Given the description of an element on the screen output the (x, y) to click on. 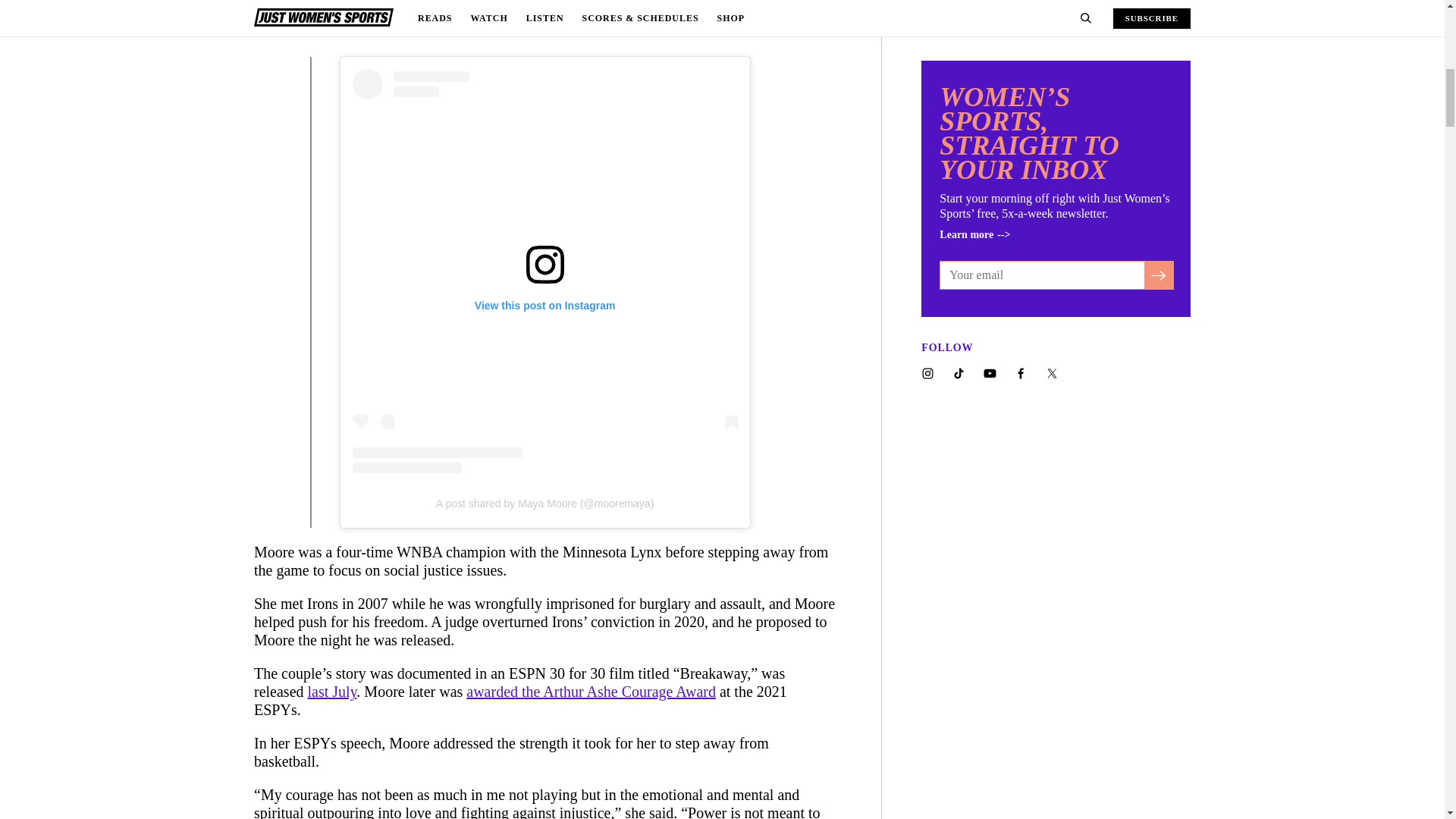
awarded the Arthur Ashe Courage Award (590, 691)
last July (331, 691)
